Given the description of an element on the screen output the (x, y) to click on. 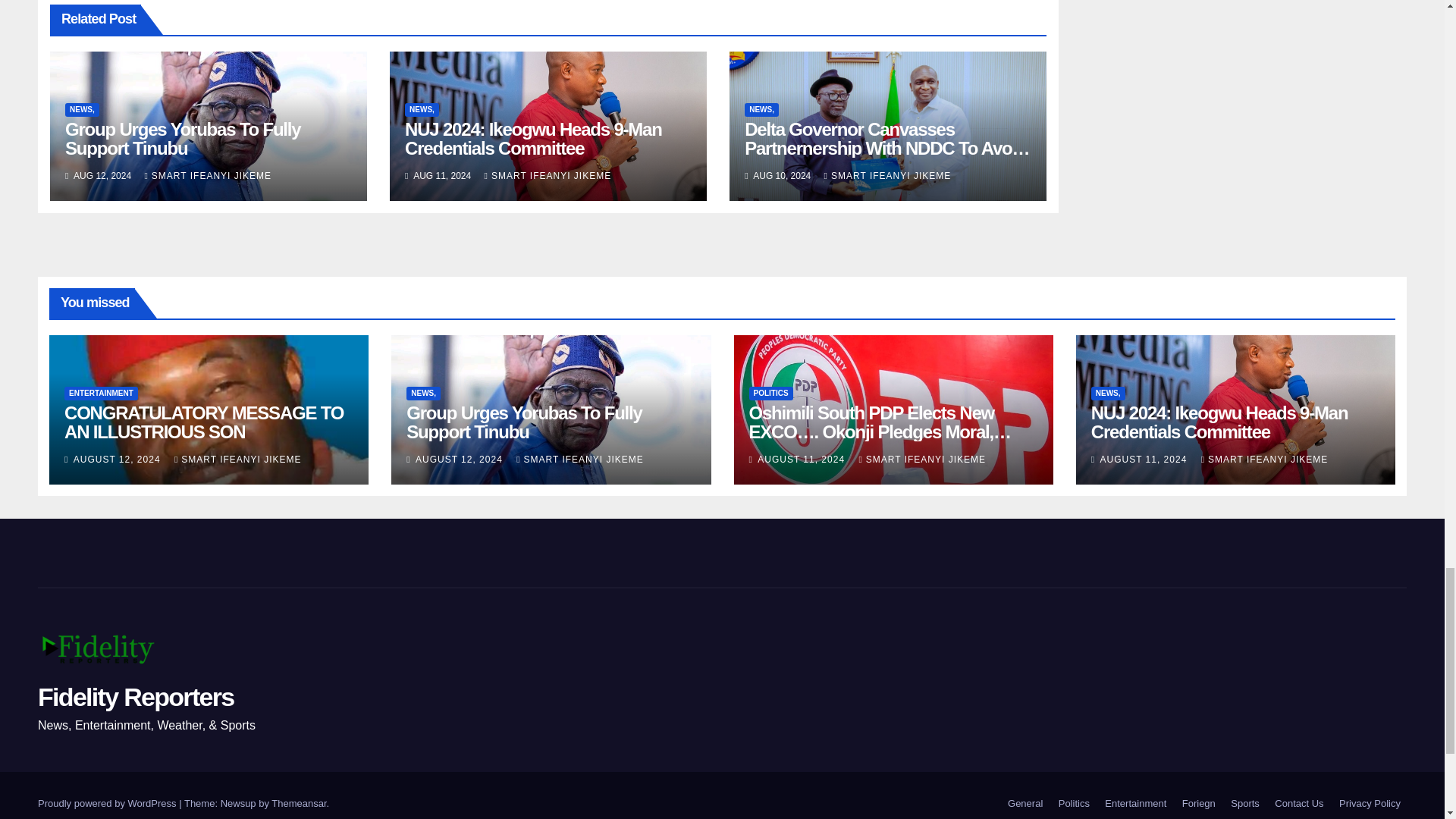
SMART IFEANYI JIKEME (547, 175)
NUJ 2024: Ikeogwu Heads 9-Man Credentials Committee (533, 138)
SMART IFEANYI JIKEME (888, 175)
SMART IFEANYI JIKEME (207, 175)
ENTERTAINMENT (101, 393)
Group Urges Yorubas To Fully Support Tinubu (182, 138)
NEWS, (761, 110)
NEWS, (421, 110)
NEWS, (82, 110)
